Given the description of an element on the screen output the (x, y) to click on. 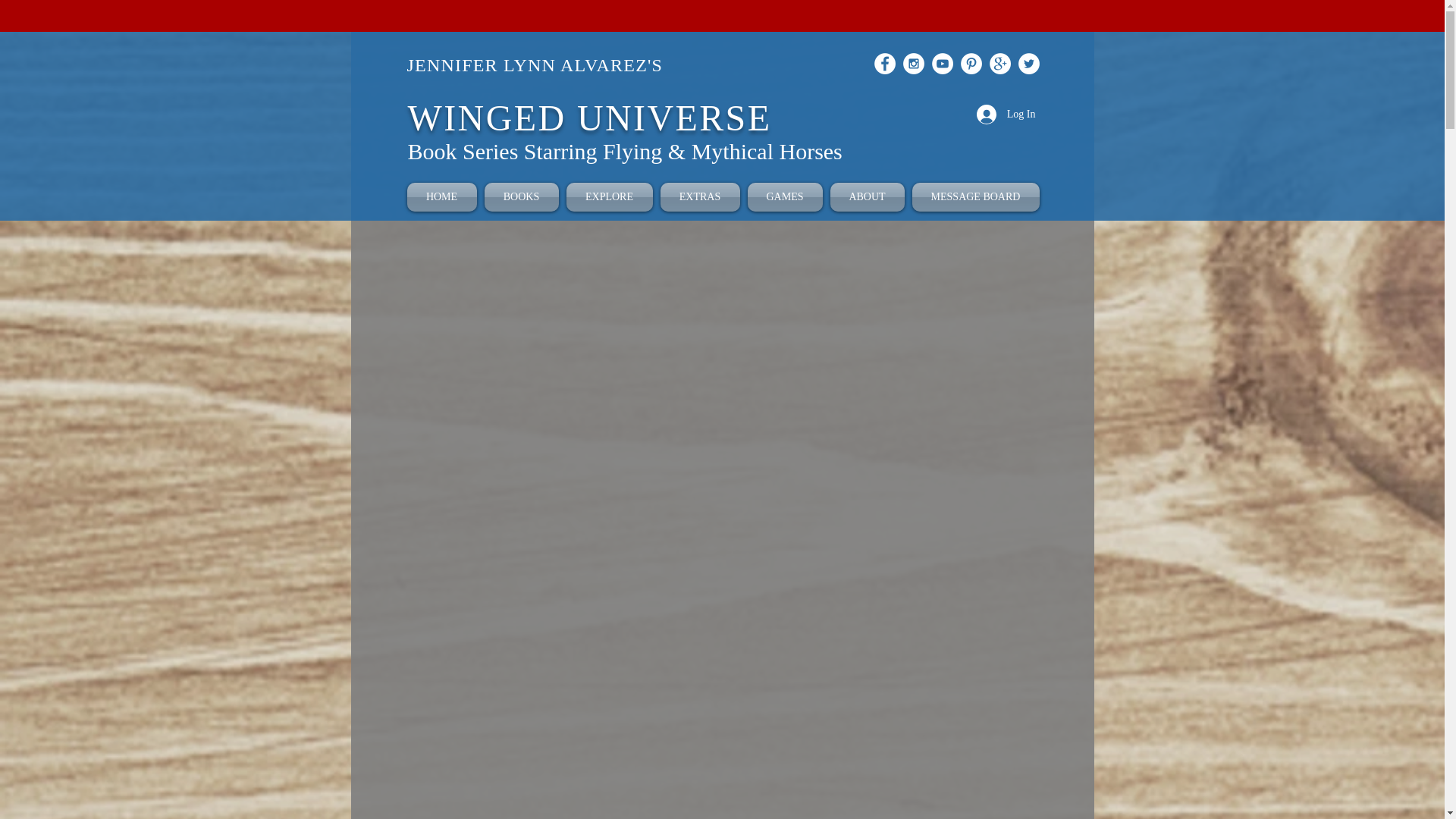
MESSAGE BOARD (973, 196)
GAMES (783, 196)
WINGED UNIVERSE (589, 117)
Log In (1006, 113)
JENNIFER LYNN ALVAREZ'S (534, 65)
EXPLORE (609, 196)
ABOUT (867, 196)
EXTRAS (700, 196)
HOME (443, 196)
BOOKS (521, 196)
